Given the description of an element on the screen output the (x, y) to click on. 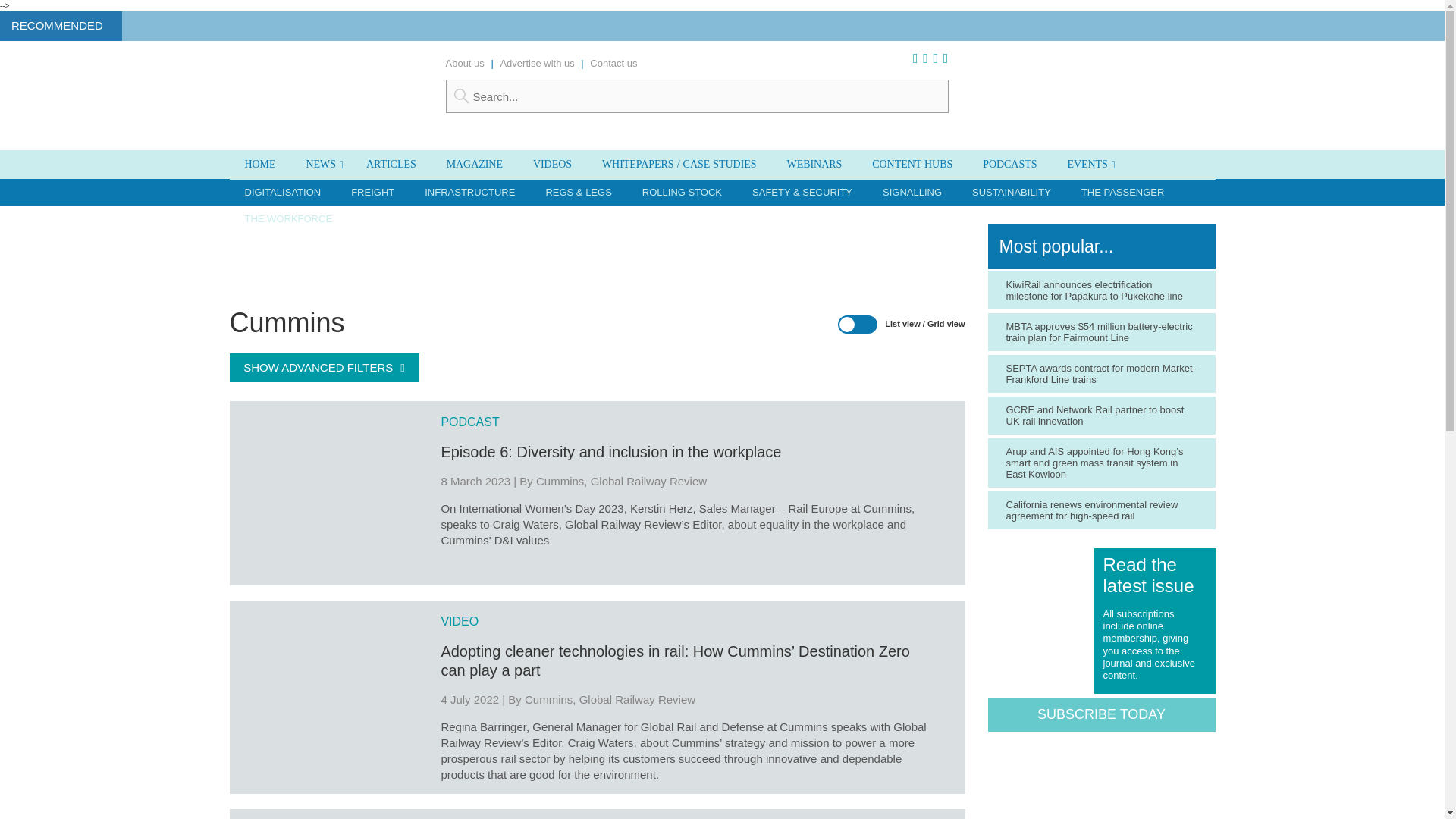
NEWS (320, 164)
Search (697, 96)
HOME (258, 164)
Contact us (613, 62)
Advertise with us (536, 62)
About us (464, 62)
